Given the description of an element on the screen output the (x, y) to click on. 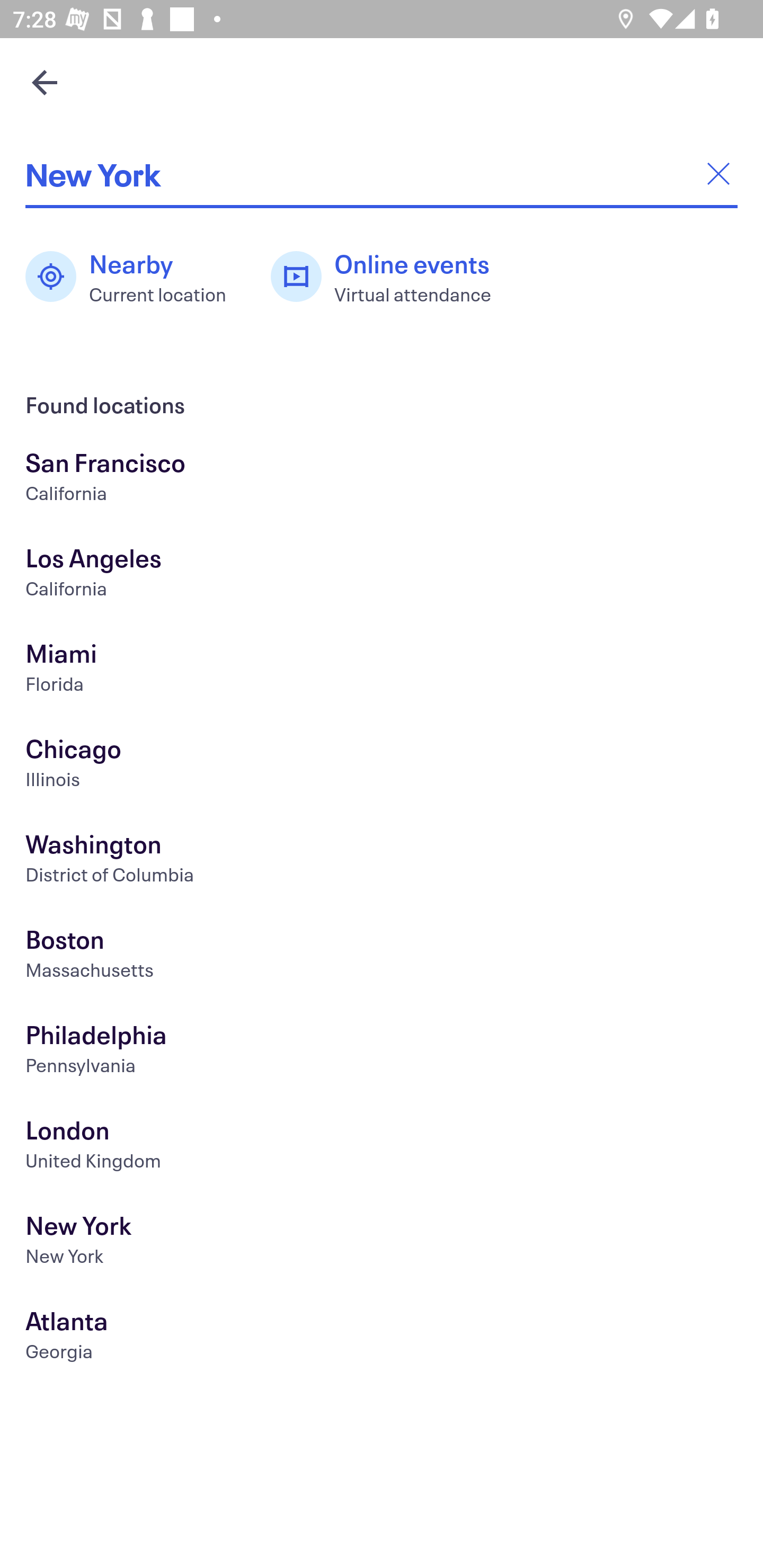
Navigate up (44, 82)
New York (381, 173)
Nearby Current location (135, 276)
Online events Virtual attendance (390, 276)
San Francisco California (381, 479)
Los Angeles California (381, 574)
Miami Florida (381, 670)
Chicago Illinois (381, 765)
Washington District of Columbia (381, 861)
Boston Massachusetts (381, 955)
Philadelphia Pennsylvania (381, 1051)
London United Kingdom (381, 1146)
New York (381, 1242)
Atlanta Georgia (381, 1338)
